Given the description of an element on the screen output the (x, y) to click on. 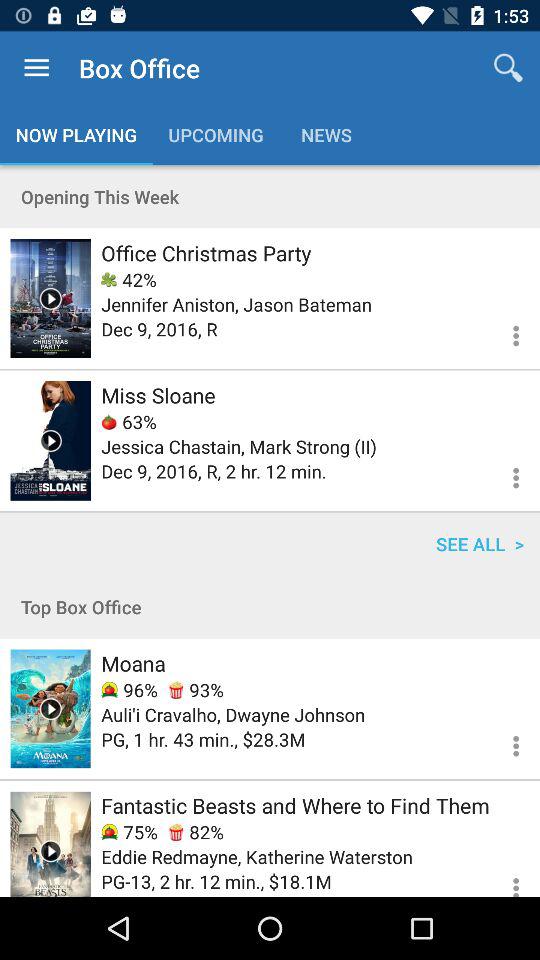
play trailer (50, 298)
